Given the description of an element on the screen output the (x, y) to click on. 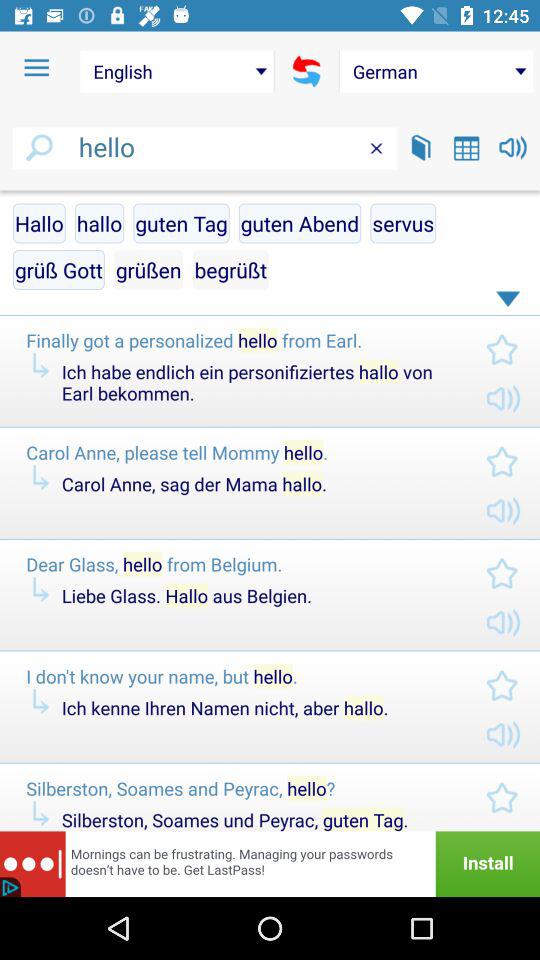
choose item next to the servus item (230, 269)
